Given the description of an element on the screen output the (x, y) to click on. 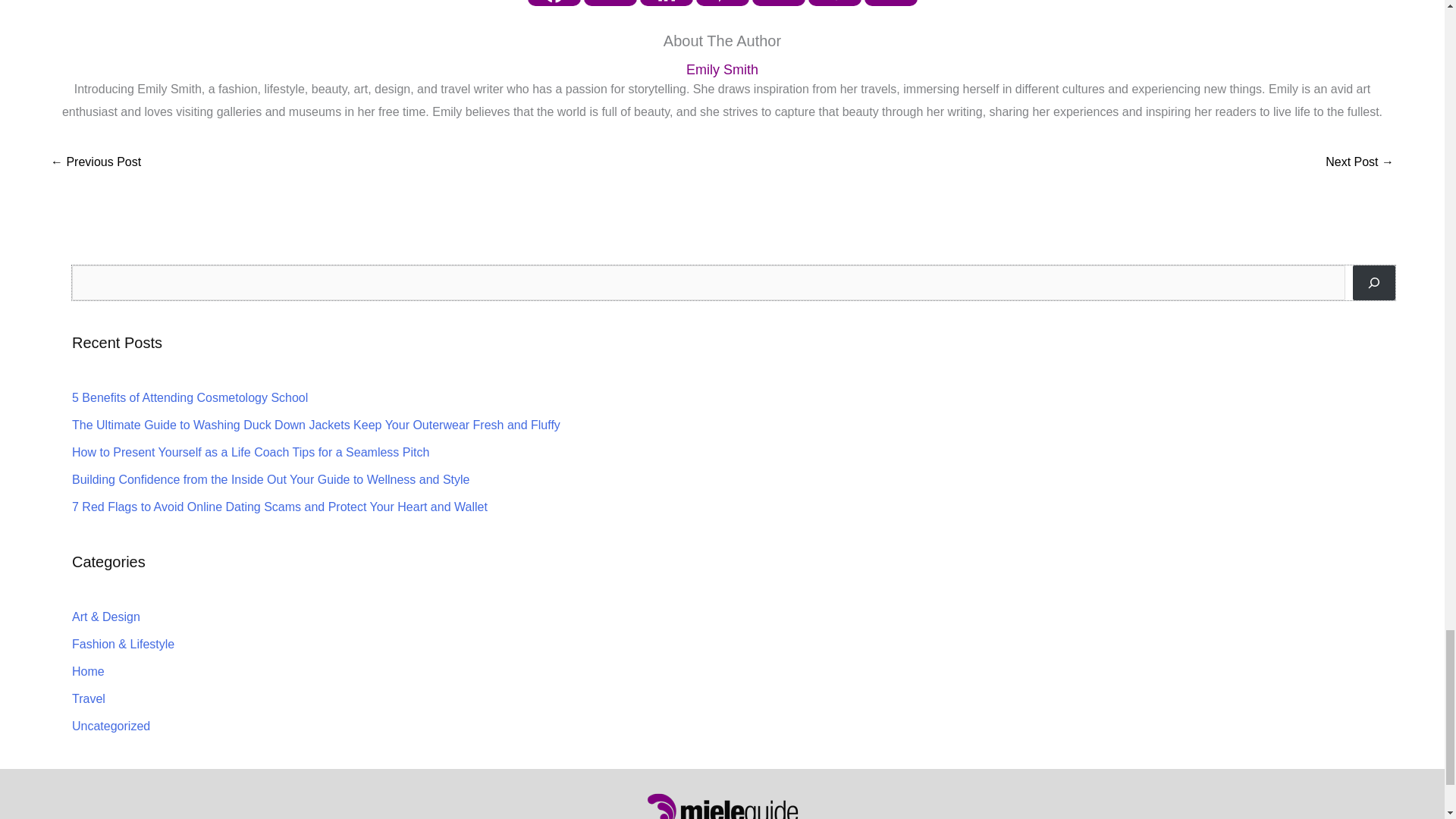
Twitter (610, 2)
Emily Smith (721, 69)
Wellness Routines to Enjoy Your Senior Years (95, 163)
More (890, 2)
Tumblr (834, 2)
Pinterest (722, 2)
5 Benefits of Attending Cosmetology School (189, 397)
Travel (87, 698)
Uncategorized (110, 725)
Teeth Grinding: Causes, Symptoms, and Treatments (1358, 163)
Home (87, 671)
Linkedin (666, 2)
